Given the description of an element on the screen output the (x, y) to click on. 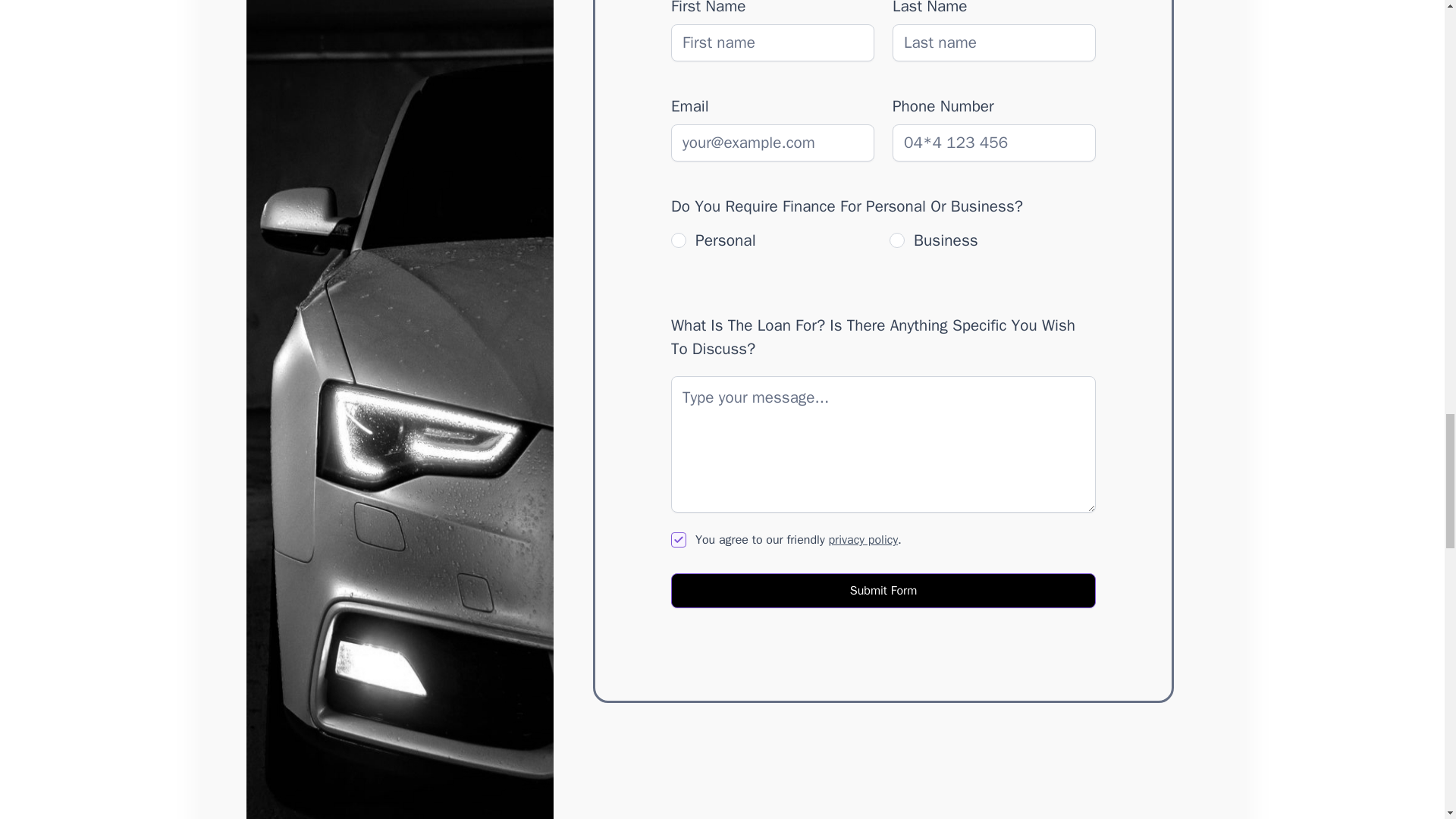
privacy policy (863, 539)
Submit Form (883, 590)
Submit Form (883, 590)
